Given the description of an element on the screen output the (x, y) to click on. 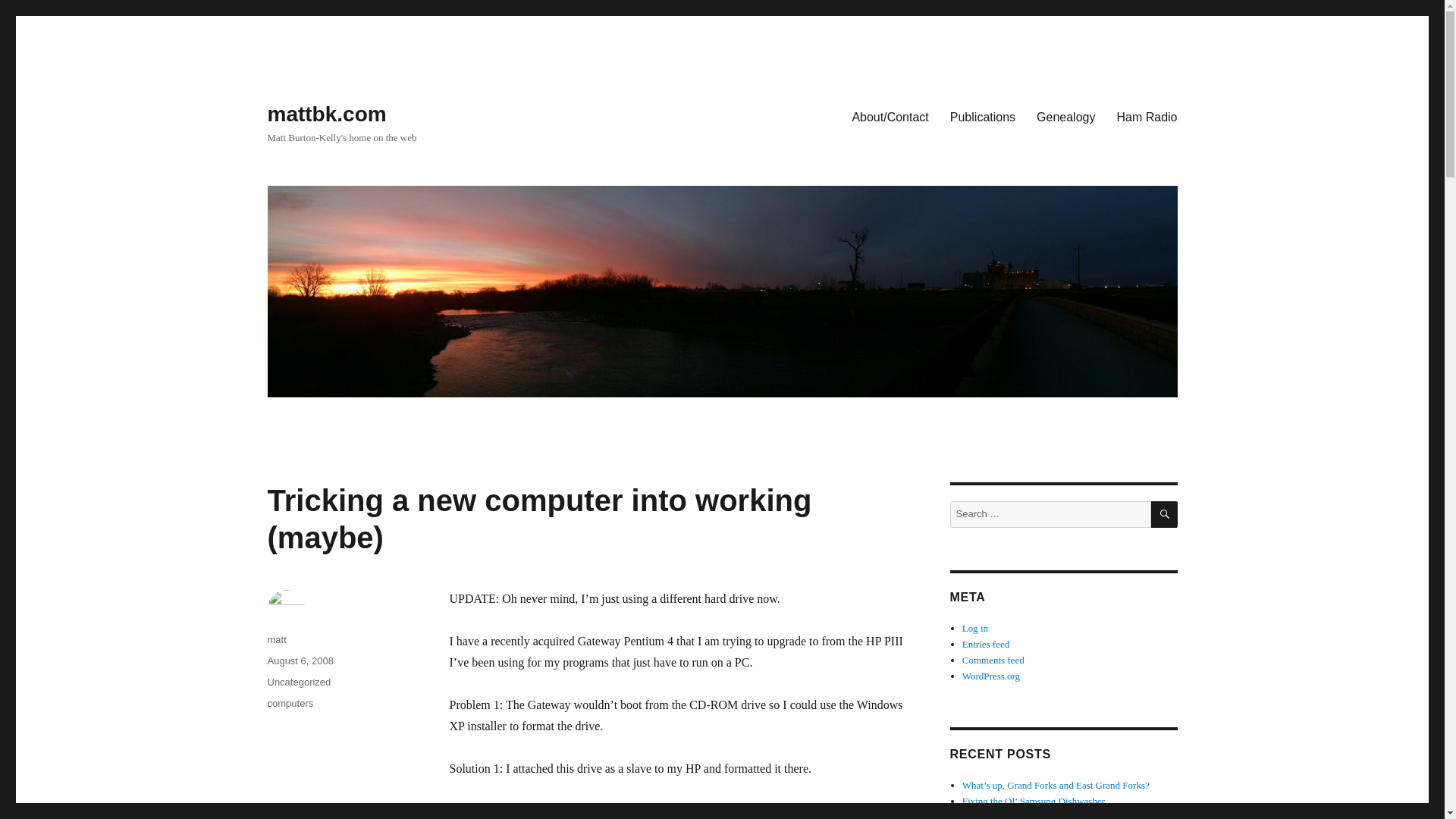
Ham Radio (1146, 116)
Genealogy (1065, 116)
Northern Plains Athletics: End of an Era (1041, 815)
computers (289, 703)
Entries feed (985, 644)
Publications (982, 116)
mattbk.com (325, 114)
Comments feed (993, 659)
matt (275, 639)
Log in (975, 627)
SEARCH (1164, 514)
August 6, 2008 (299, 660)
WordPress.org (991, 675)
